Given the description of an element on the screen output the (x, y) to click on. 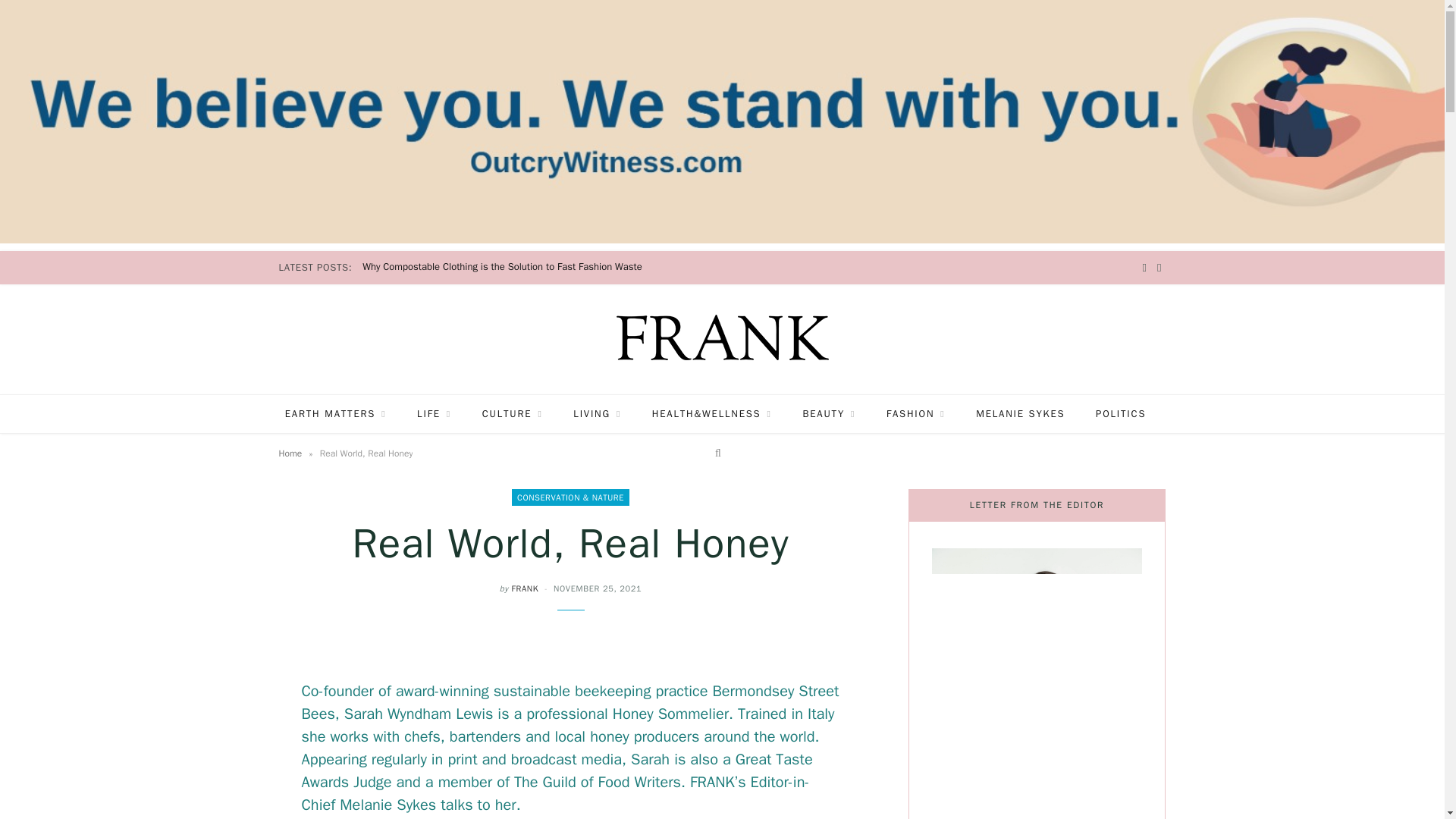
The Frank Magazine (721, 337)
EARTH MATTERS (335, 413)
